Given the description of an element on the screen output the (x, y) to click on. 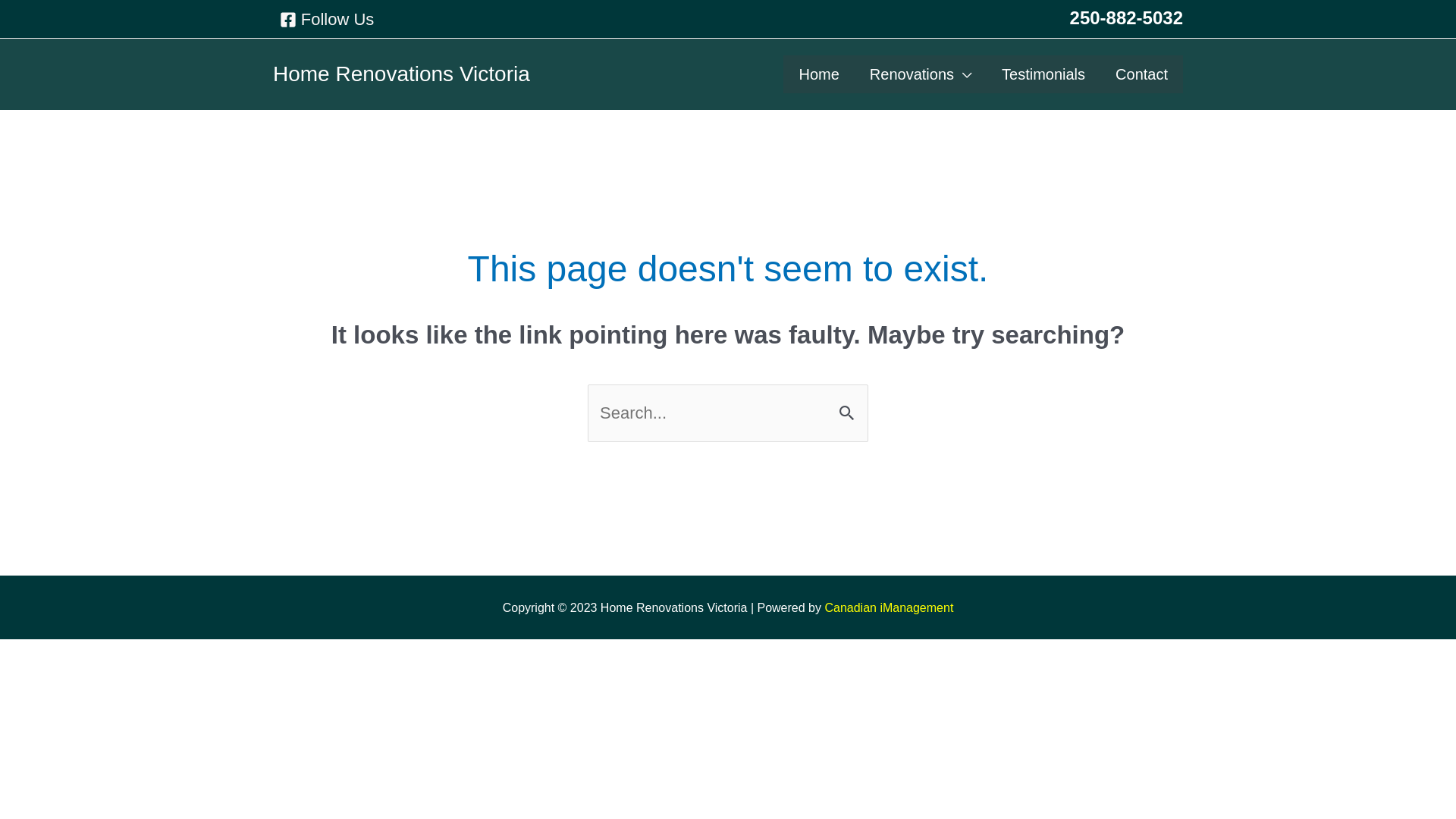
Follow Us Element type: text (326, 19)
Contact Element type: text (1141, 75)
Search Element type: text (851, 409)
Canadian iManagement Element type: text (888, 607)
Home Element type: text (818, 75)
Home Renovations Victoria Element type: text (401, 73)
Renovations Element type: text (920, 75)
Testimonials Element type: text (1043, 75)
